Given the description of an element on the screen output the (x, y) to click on. 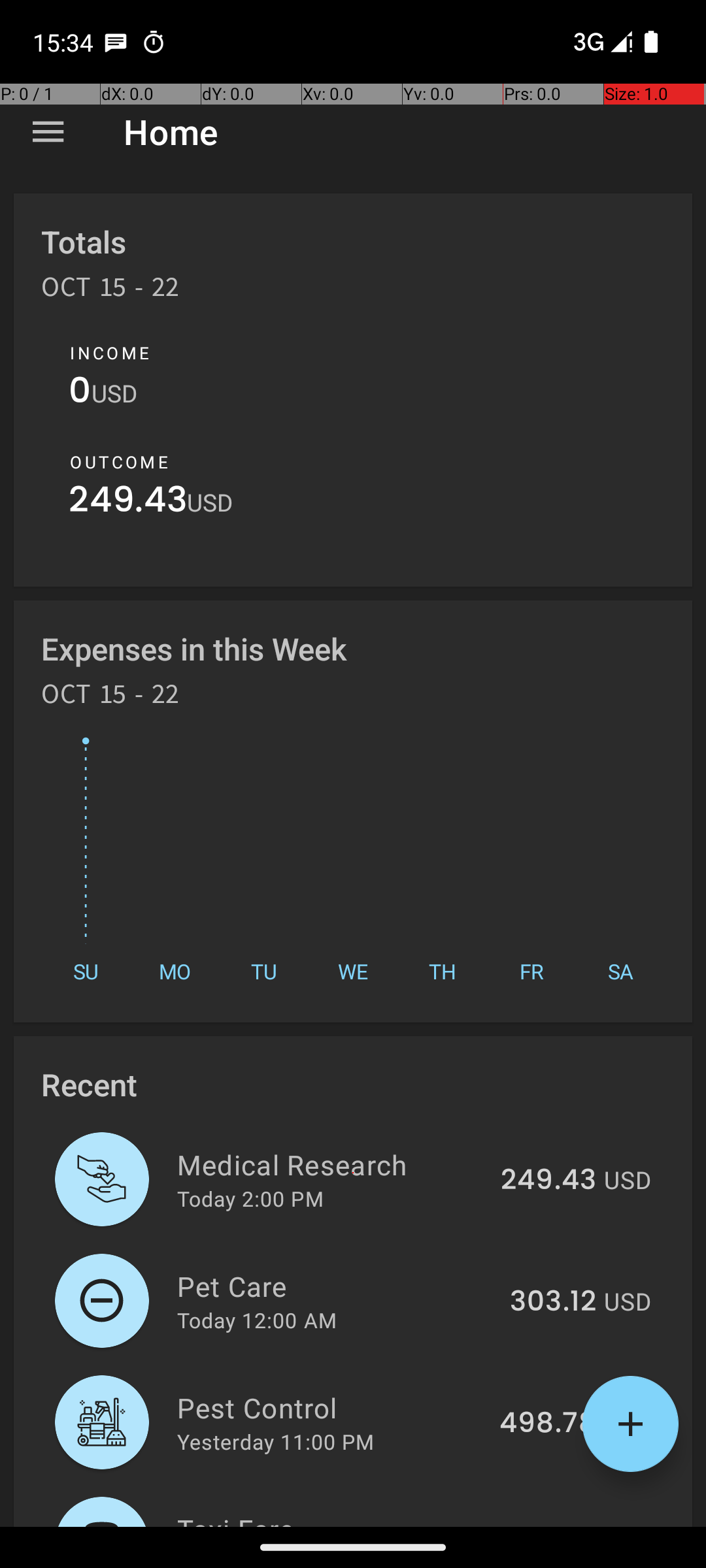
249.43 Element type: android.widget.TextView (127, 502)
Medical Research Element type: android.widget.TextView (331, 1164)
Pet Care Element type: android.widget.TextView (335, 1285)
Today 12:00 AM Element type: android.widget.TextView (256, 1320)
303.12 Element type: android.widget.TextView (552, 1301)
Yesterday 11:00 PM Element type: android.widget.TextView (275, 1441)
498.78 Element type: android.widget.TextView (547, 1423)
Taxi Fare Element type: android.widget.TextView (334, 1518)
170.99 Element type: android.widget.TextView (551, 1524)
